Given the description of an element on the screen output the (x, y) to click on. 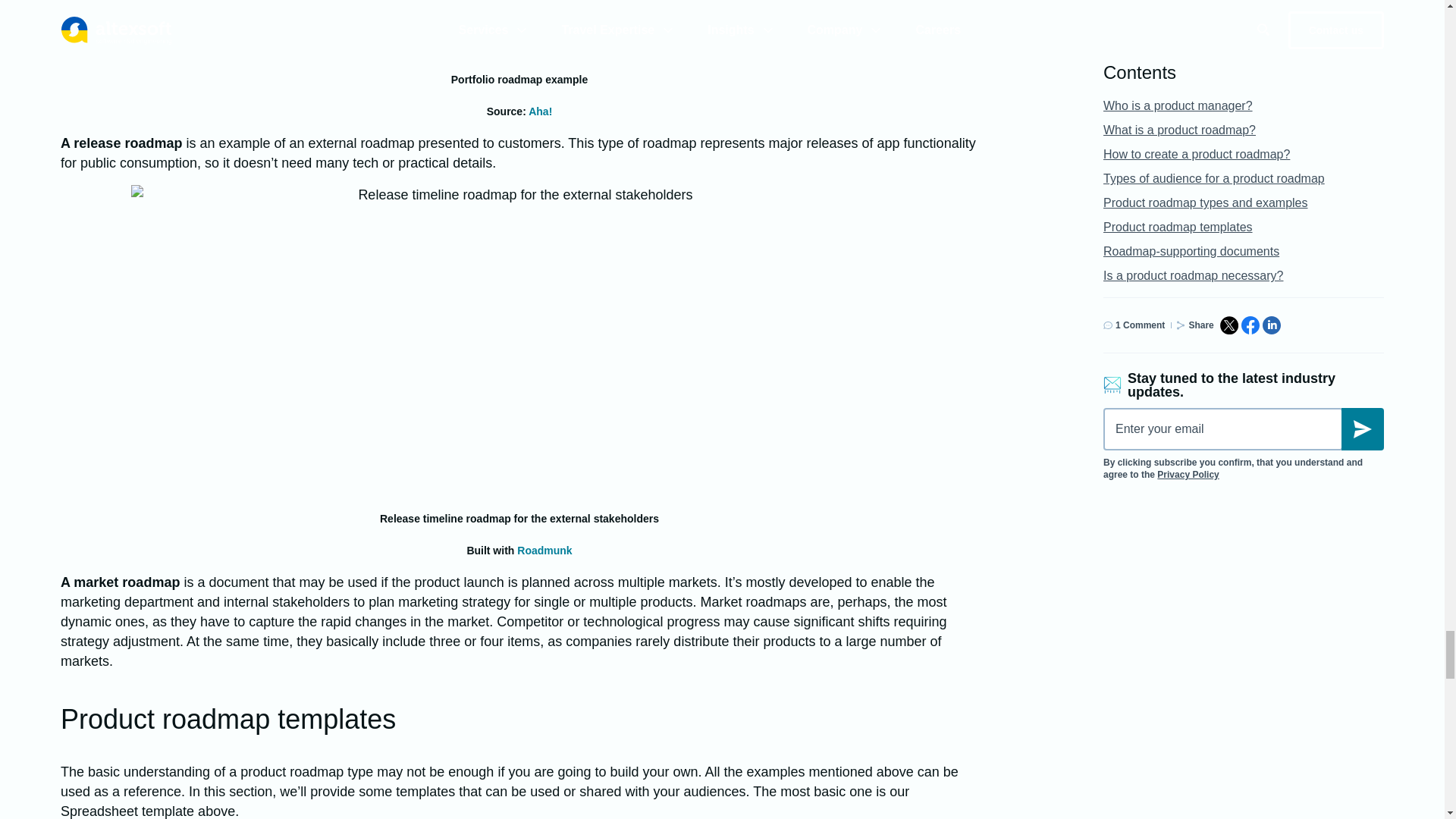
Roadmunk (544, 550)
Aha! (539, 111)
